Given the description of an element on the screen output the (x, y) to click on. 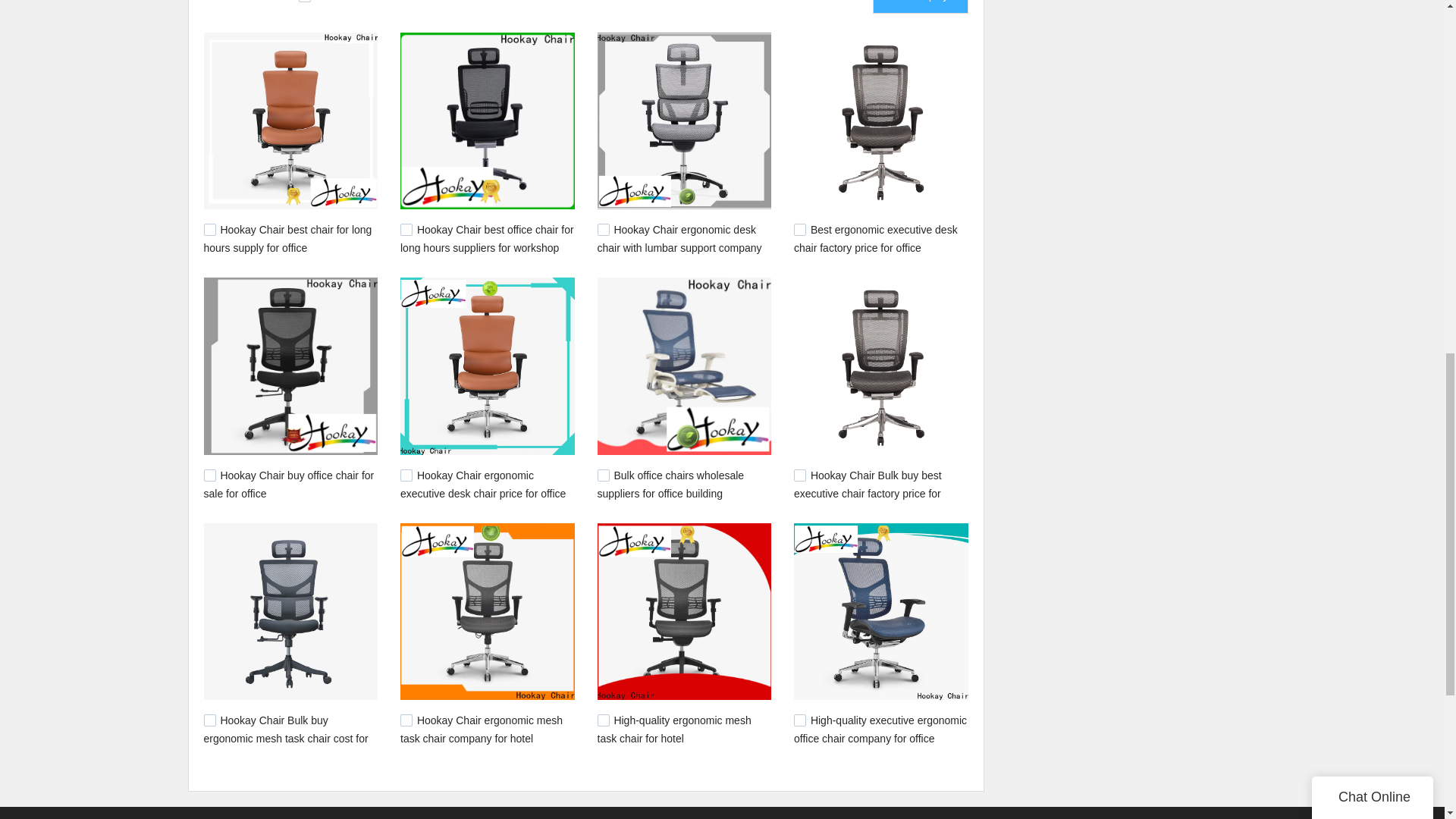
2089 (799, 720)
Best ergonomic executive desk chair factory price for office (875, 238)
2105 (603, 720)
Hookay Chair best chair for long hours supply for office (287, 238)
2666 (406, 229)
2291 (406, 475)
2114 (406, 720)
2255 (799, 475)
High-quality ergonomic mesh task chair for hotel (673, 729)
2558 (209, 475)
Hookay Chair buy office chair for sale for office (288, 484)
